Given the description of an element on the screen output the (x, y) to click on. 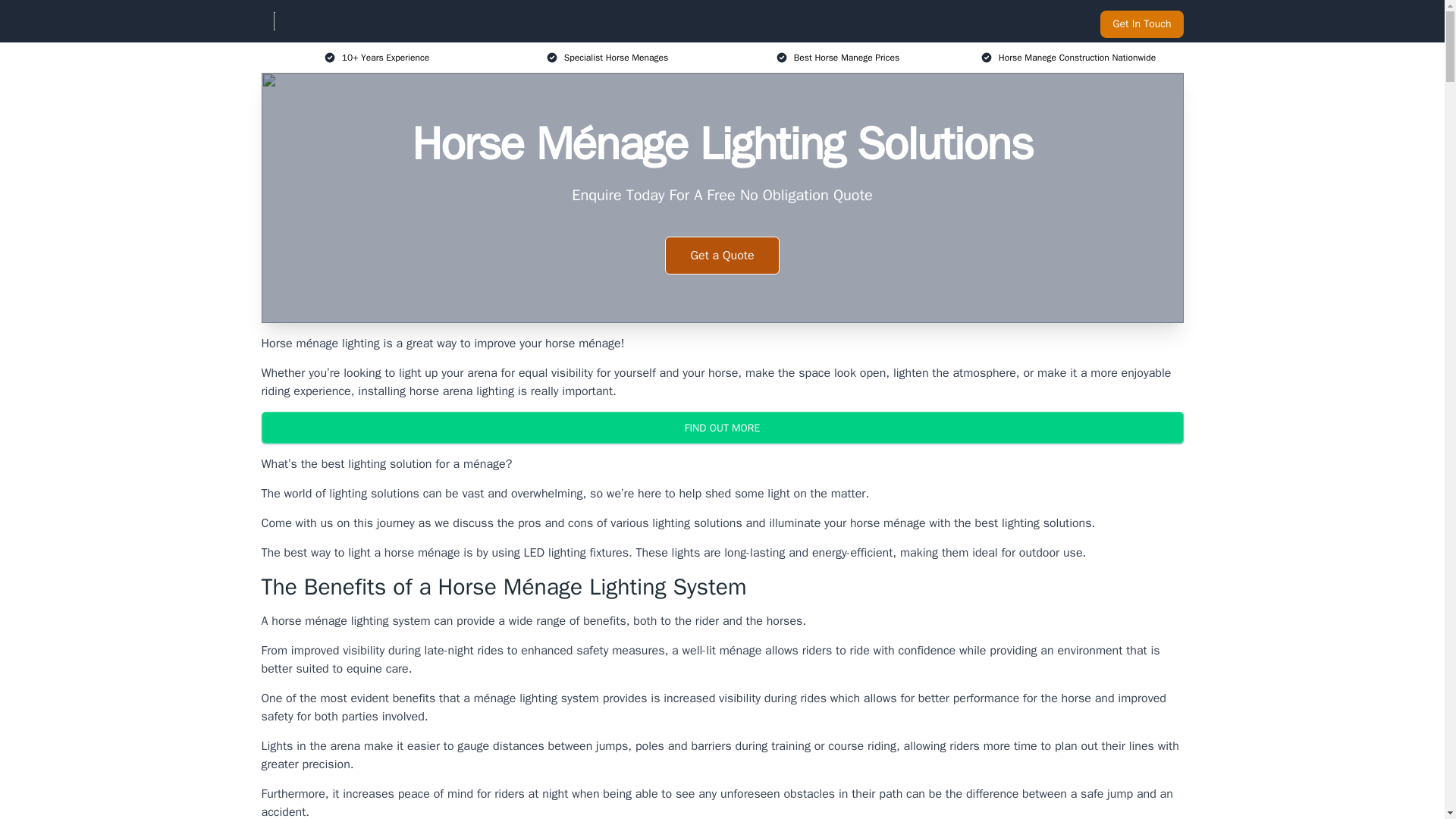
Get a Quote (721, 255)
FIND OUT MORE (721, 427)
Get In Touch (1141, 23)
